Given the description of an element on the screen output the (x, y) to click on. 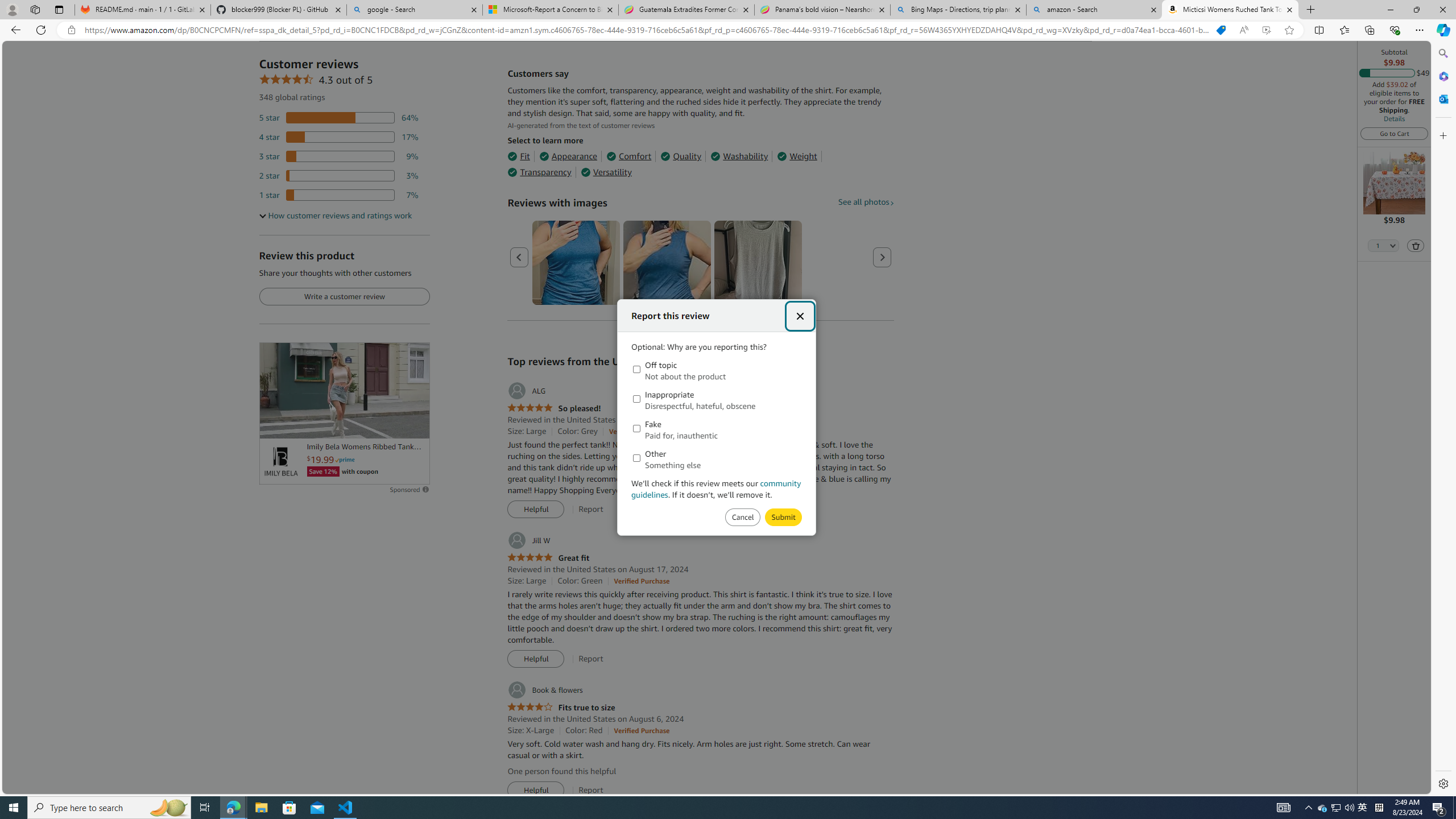
5.0 out of 5 stars Great fit (547, 557)
Unmute (414, 424)
Microsoft-Report a Concern to Bing (550, 9)
amazon - Search (1094, 9)
Weight (796, 156)
Report (590, 790)
Comfort (628, 156)
Quality (681, 156)
